Given the description of an element on the screen output the (x, y) to click on. 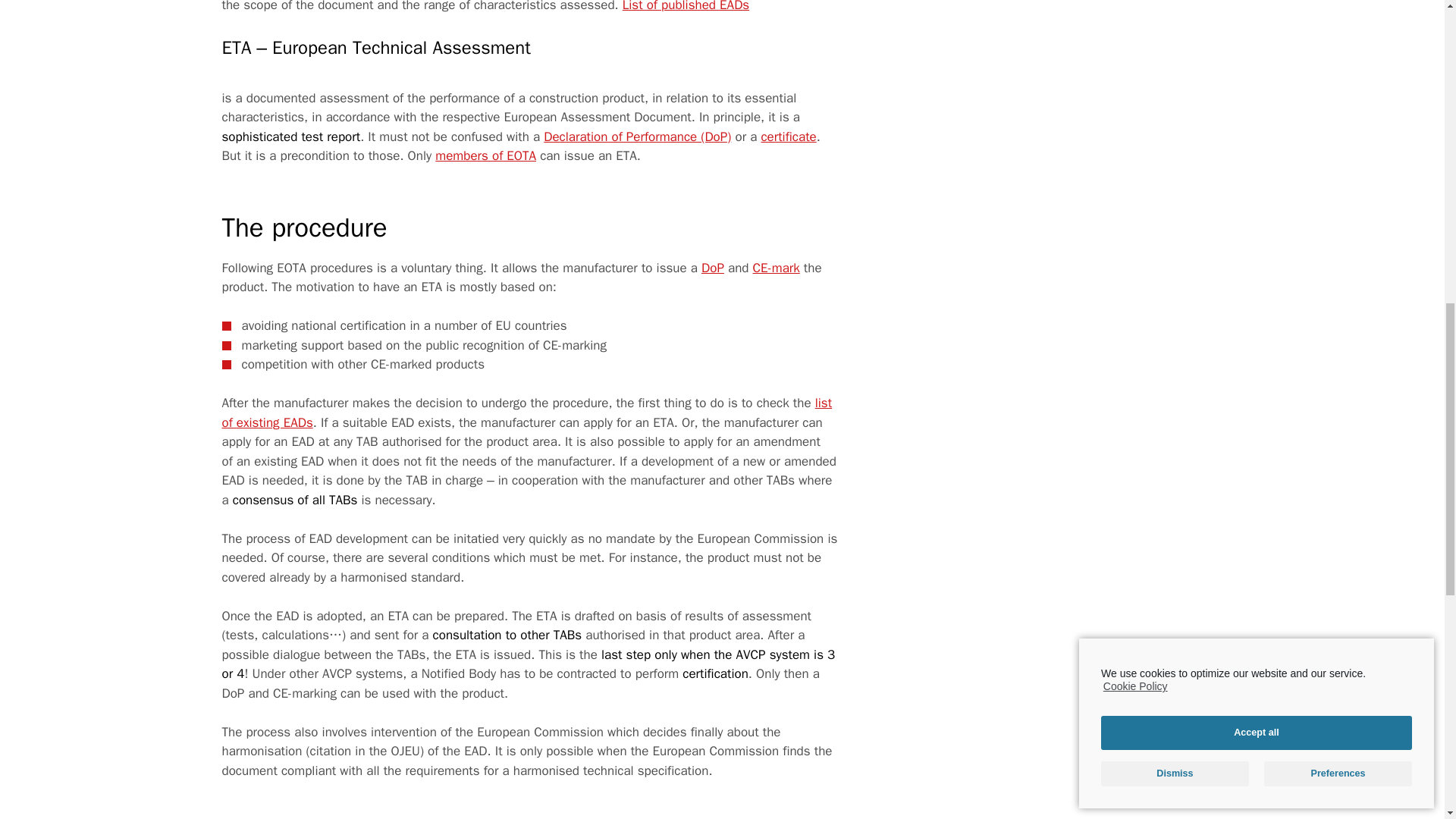
CE-mark (775, 268)
certificate (787, 136)
members of EOTA (485, 155)
DoP (712, 268)
list of existing EADs (526, 412)
List of published EADs (686, 6)
